Given the description of an element on the screen output the (x, y) to click on. 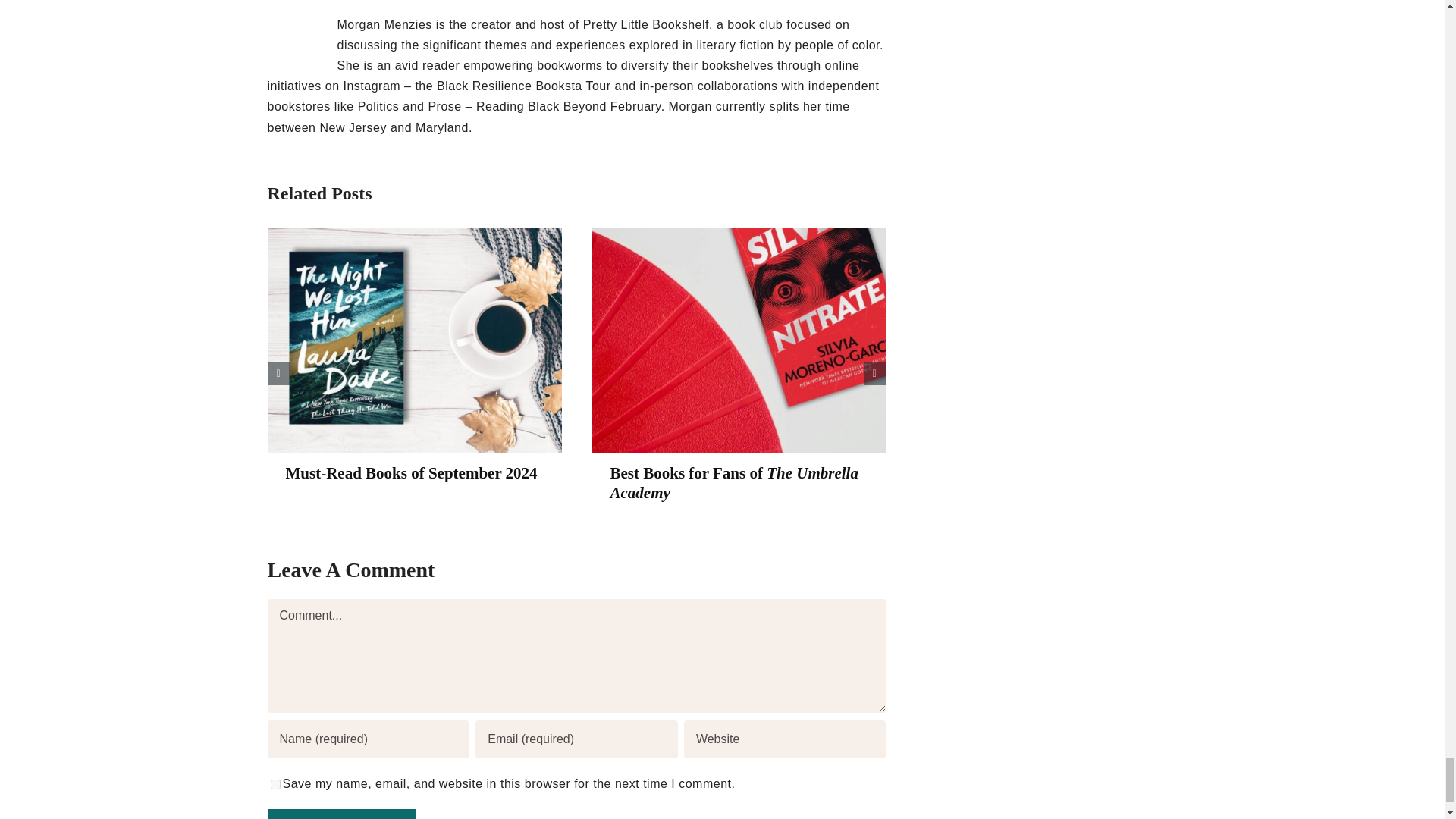
Post Comment (340, 814)
Best Books for Fans of The Umbrella Academy (733, 482)
Must-Read Books of September 2024 (411, 473)
yes (274, 784)
